Given the description of an element on the screen output the (x, y) to click on. 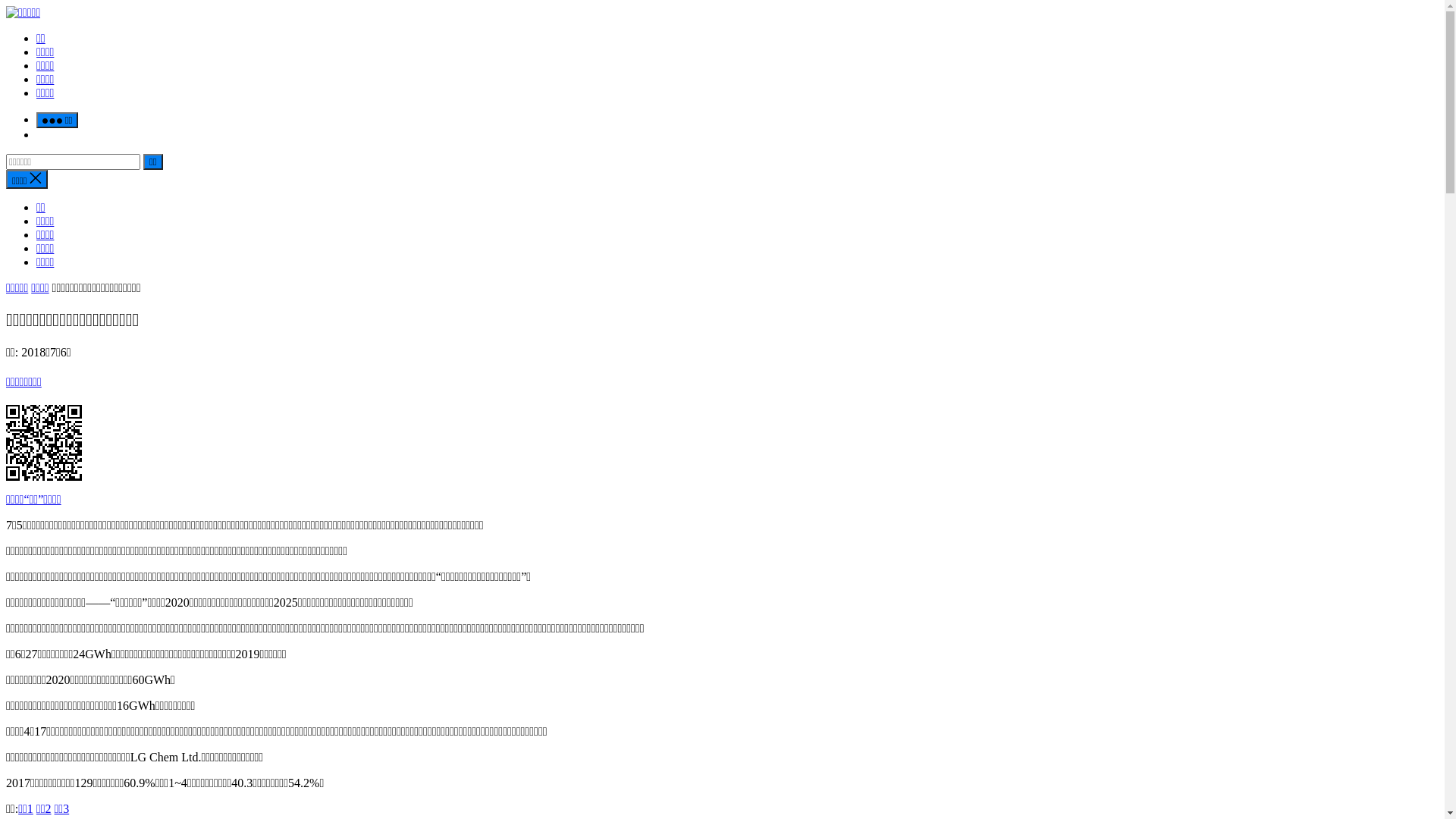
https://kjfsy.1905sky.com/archives/36 Element type: hover (722, 442)
